Given the description of an element on the screen output the (x, y) to click on. 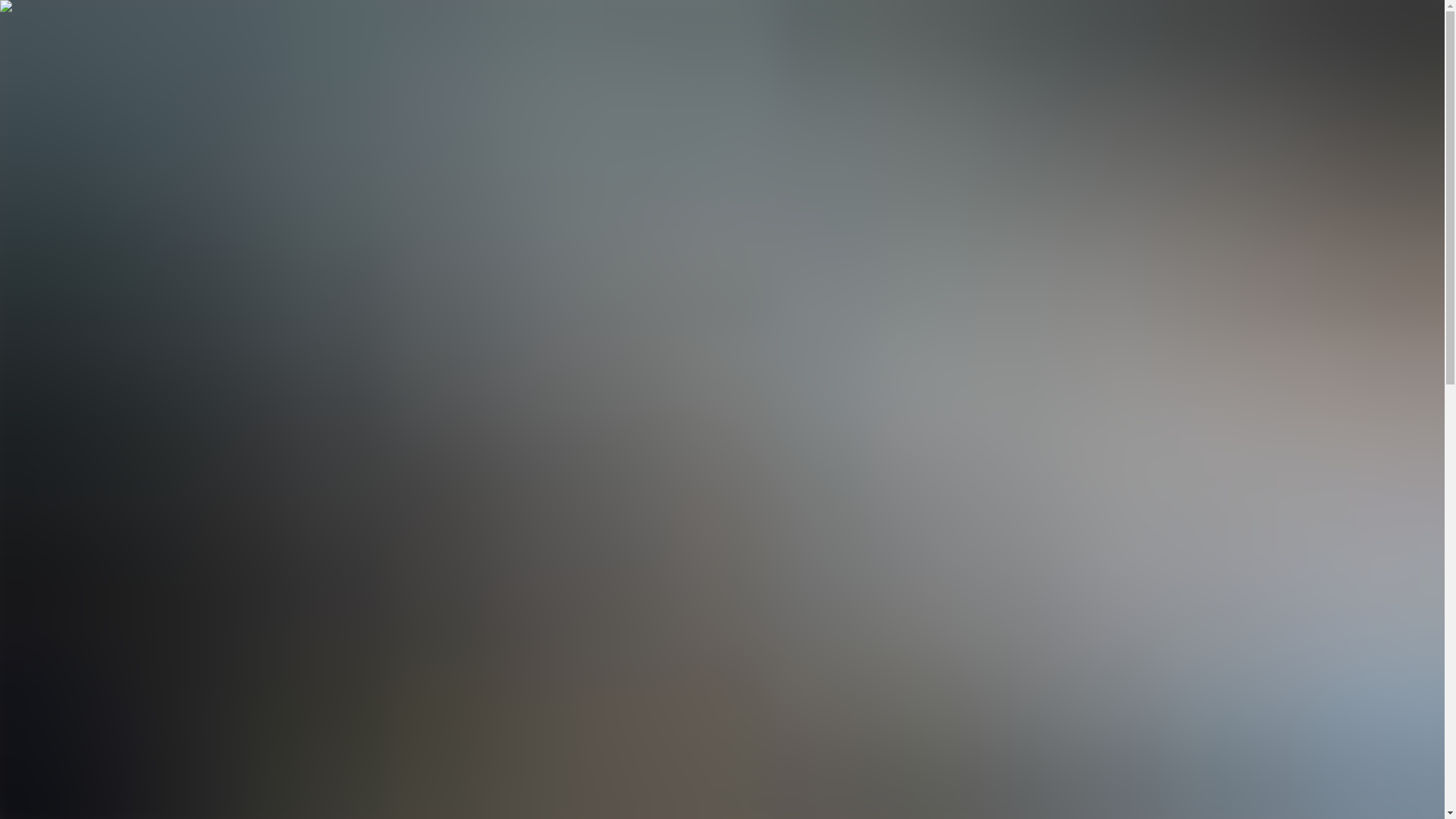
Contact (35, 154)
About (25, 507)
Portfolio and Asset Management (84, 100)
News (24, 571)
Contact (28, 689)
About (25, 176)
Oundle Branch (45, 240)
Residential Investment (62, 116)
Portfolio and Asset Management (84, 539)
Residential Investment (62, 555)
